Given the description of an element on the screen output the (x, y) to click on. 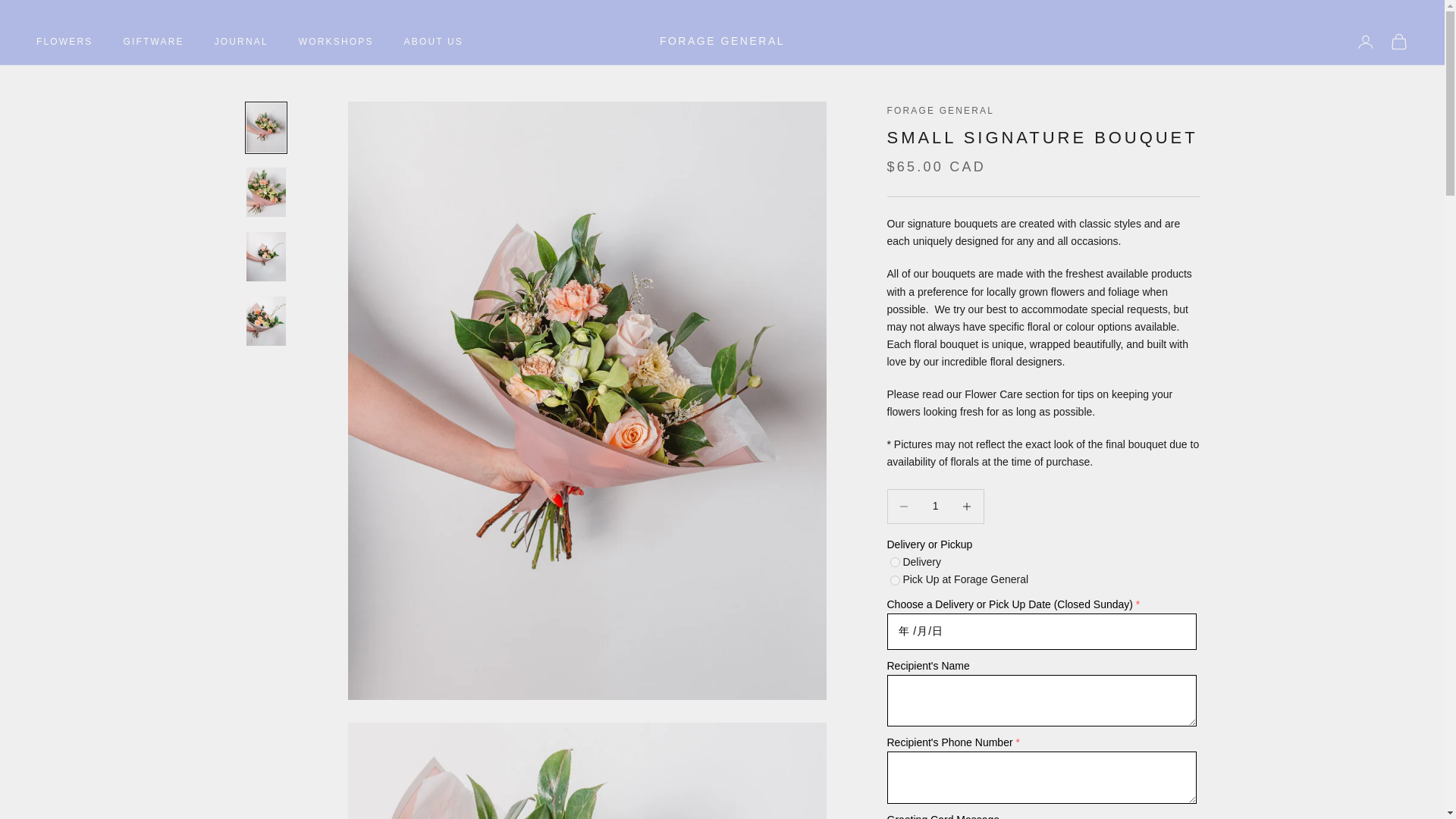
ABOUT US (433, 41)
Delivery (894, 562)
FORAGE GENERAL (940, 110)
WORKSHOPS (336, 41)
Decrease quantity (903, 505)
1 (935, 505)
Pick Up at Forage General (894, 580)
Decrease quantity (967, 505)
FORAGE GENERAL (721, 41)
Open account page (1365, 41)
Open cart (1398, 41)
JOURNAL (240, 41)
